Given the description of an element on the screen output the (x, y) to click on. 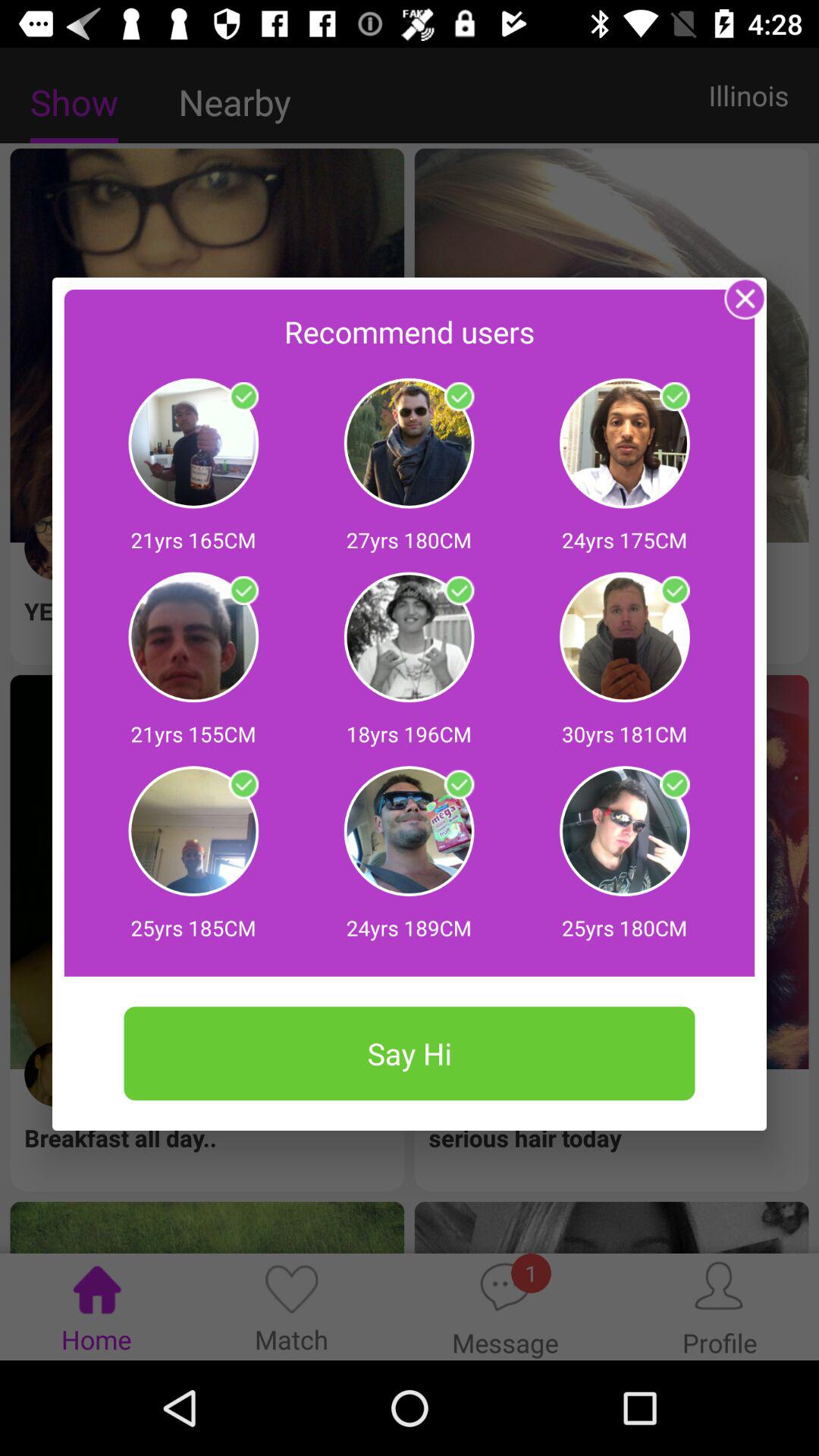
click on profile (243, 396)
